Given the description of an element on the screen output the (x, y) to click on. 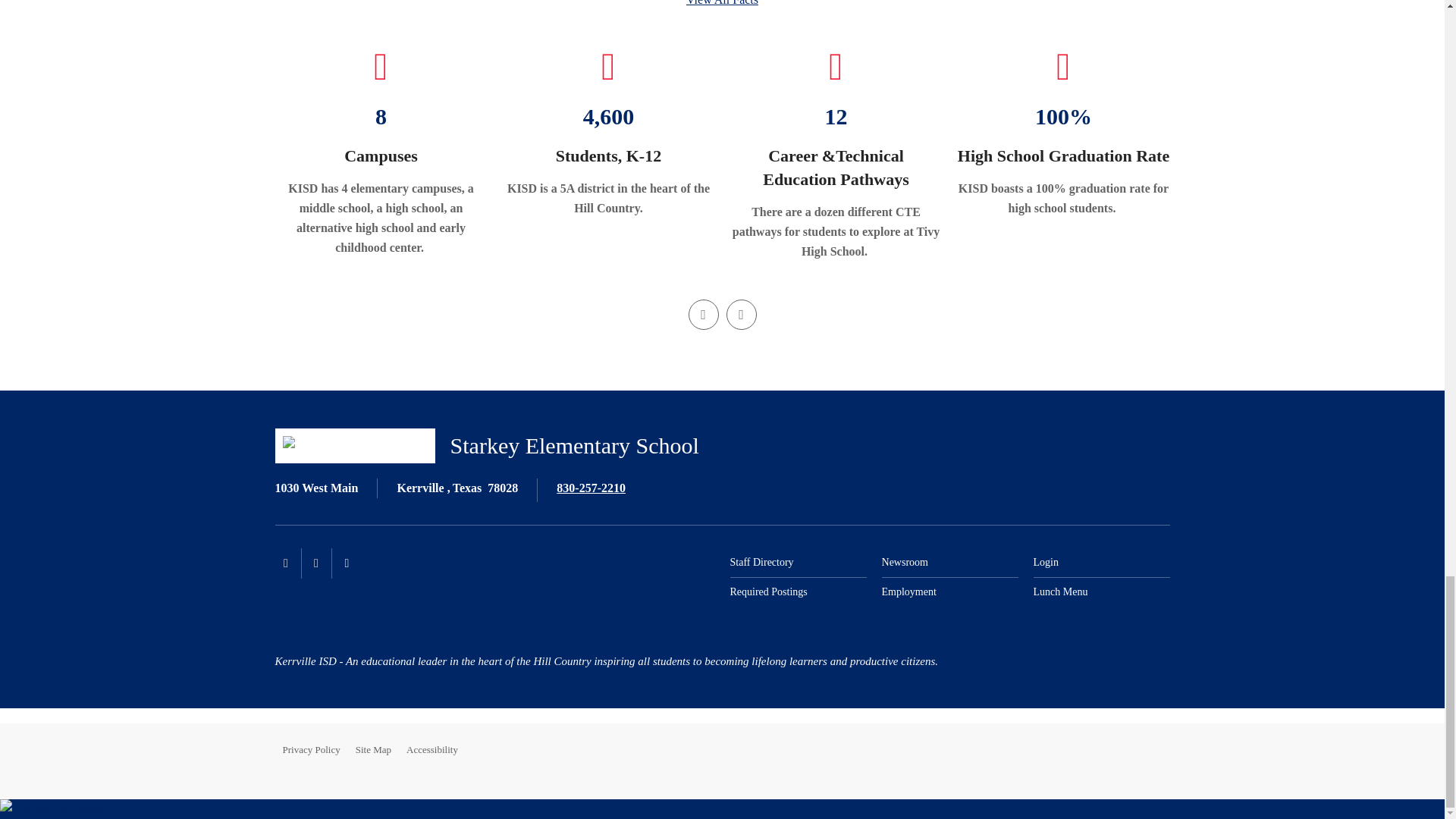
Powered by Finalsite opens in a new window (1118, 750)
